Given the description of an element on the screen output the (x, y) to click on. 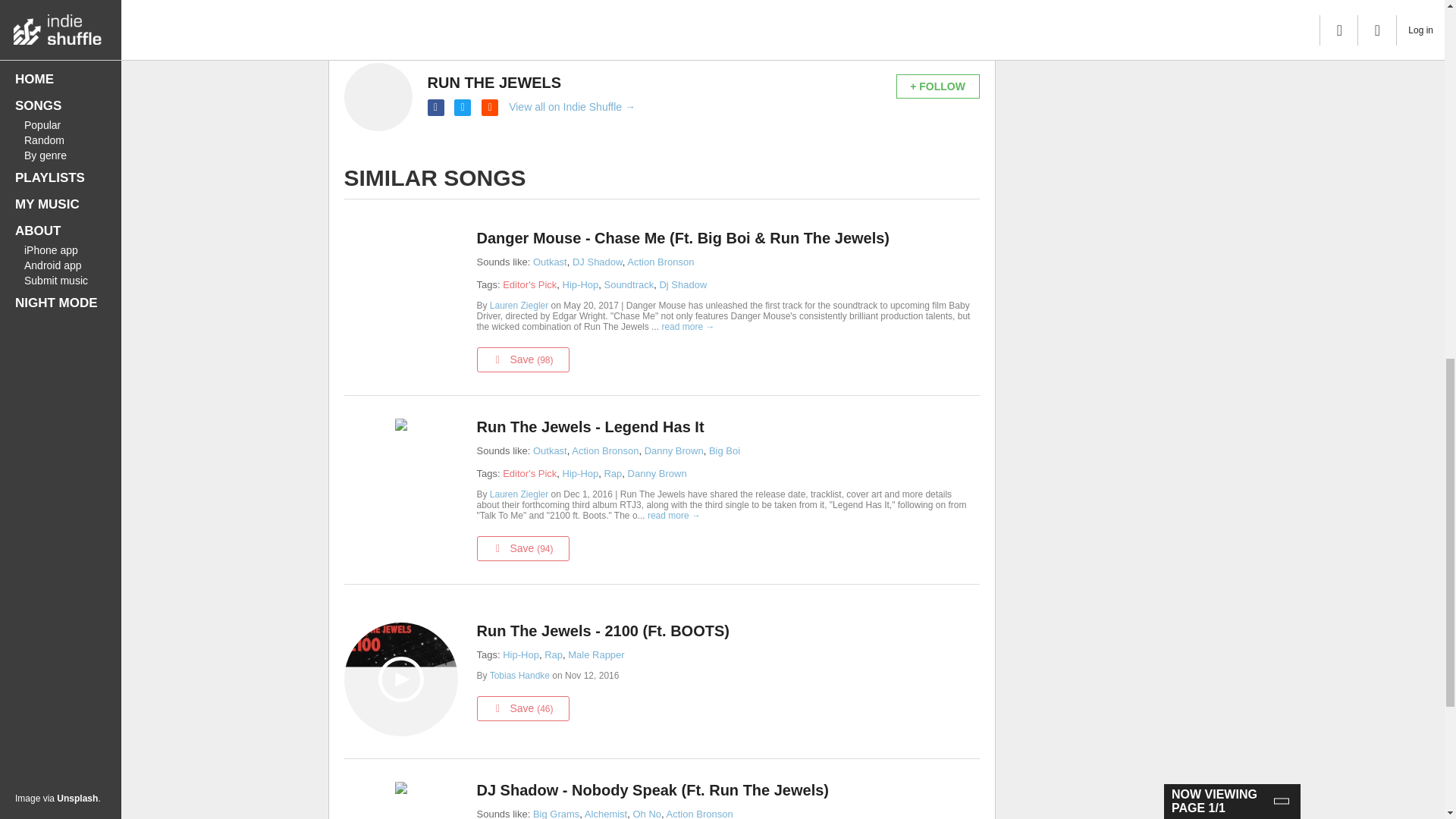
Soundtrack (628, 284)
Hip-hop Songs (520, 654)
Danny brown Songs (657, 473)
Soundtrack Songs (628, 284)
Hip-hop Songs (580, 284)
Run The Jewels - Legend Has It (723, 426)
Action Bronson (605, 450)
Hip-Hop (580, 473)
Rap (612, 473)
Rap Songs (612, 473)
Lauren Ziegler (520, 493)
DJ Shadow (597, 261)
Outkast (549, 450)
Hip-hop Songs (580, 473)
Dj shadow Songs (682, 284)
